Given the description of an element on the screen output the (x, y) to click on. 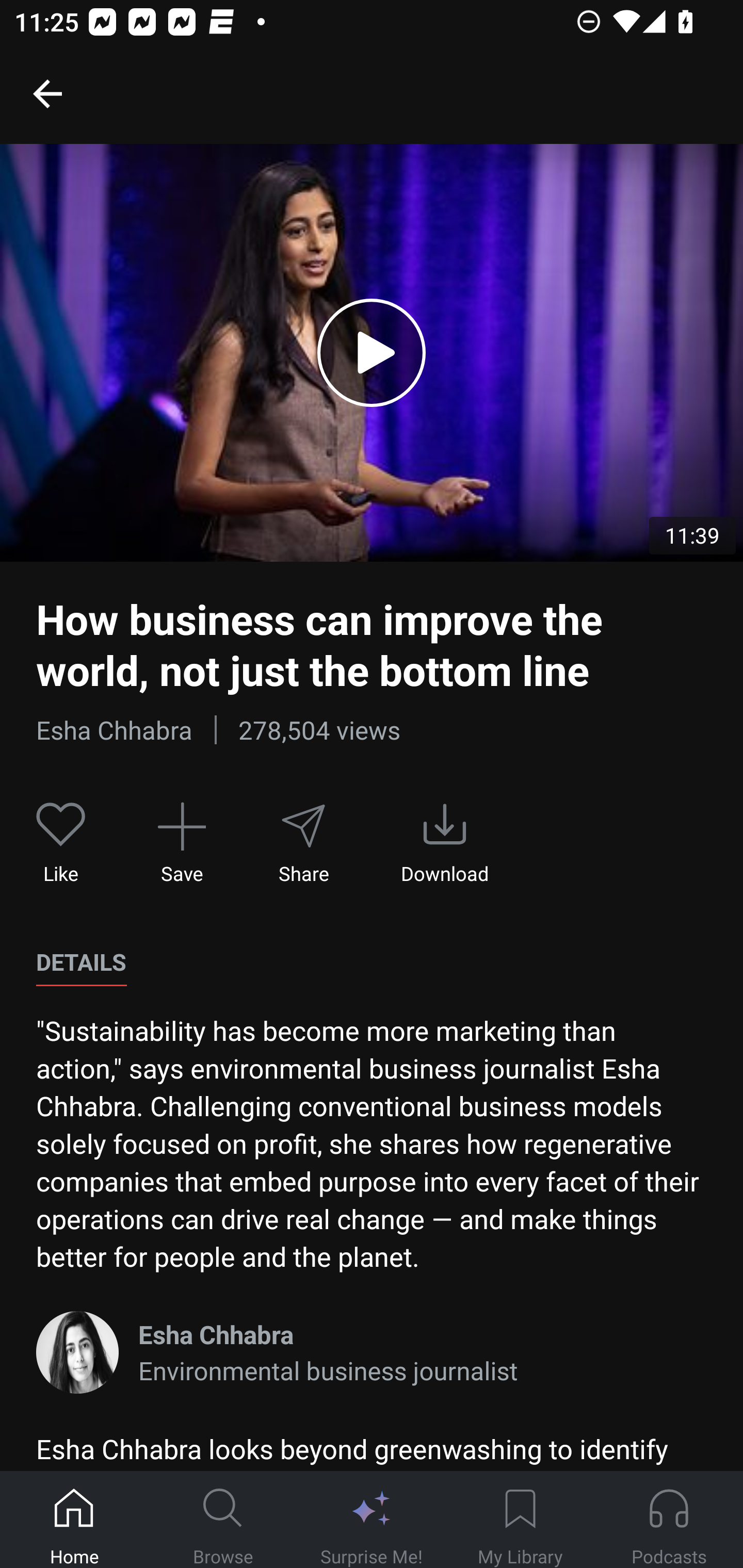
Home, back (47, 92)
Like (60, 843)
Save (181, 843)
Share (302, 843)
Download (444, 843)
DETAILS (80, 962)
Home (74, 1520)
Browse (222, 1520)
Surprise Me! (371, 1520)
My Library (519, 1520)
Podcasts (668, 1520)
